Given the description of an element on the screen output the (x, y) to click on. 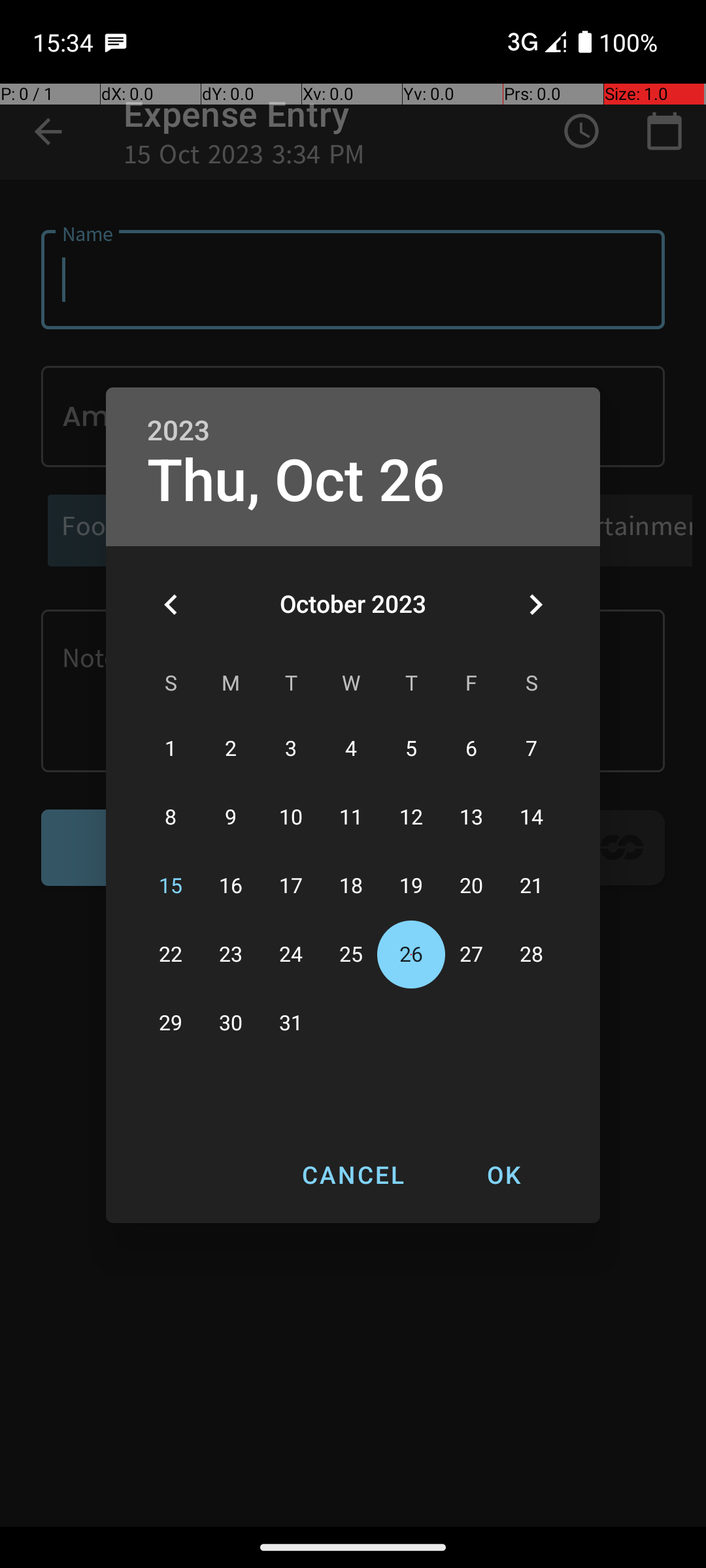
Thu, Oct 26 Element type: android.widget.TextView (296, 480)
